Given the description of an element on the screen output the (x, y) to click on. 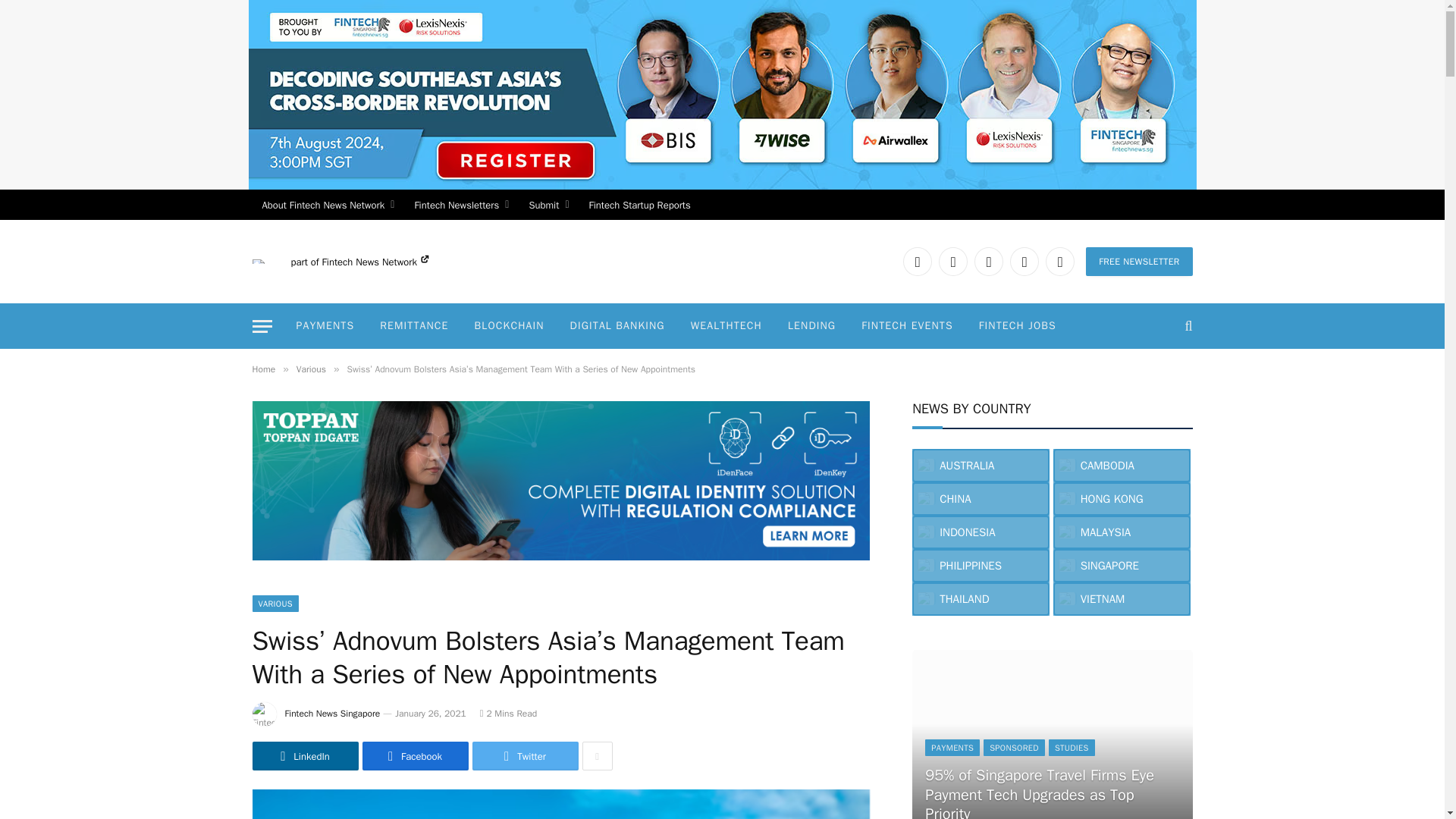
Fintech Newsletters (461, 204)
Fintech News Network (375, 261)
Share on LinkedIn (304, 756)
About Fintech News Network (327, 204)
Share on Facebook (415, 756)
Posts by Fintech News Singapore (332, 713)
Submit (548, 204)
Fintech Singapore (257, 261)
Search (1186, 326)
Show More Social Sharing (597, 756)
Fintech Startup Reports (639, 204)
